Given the description of an element on the screen output the (x, y) to click on. 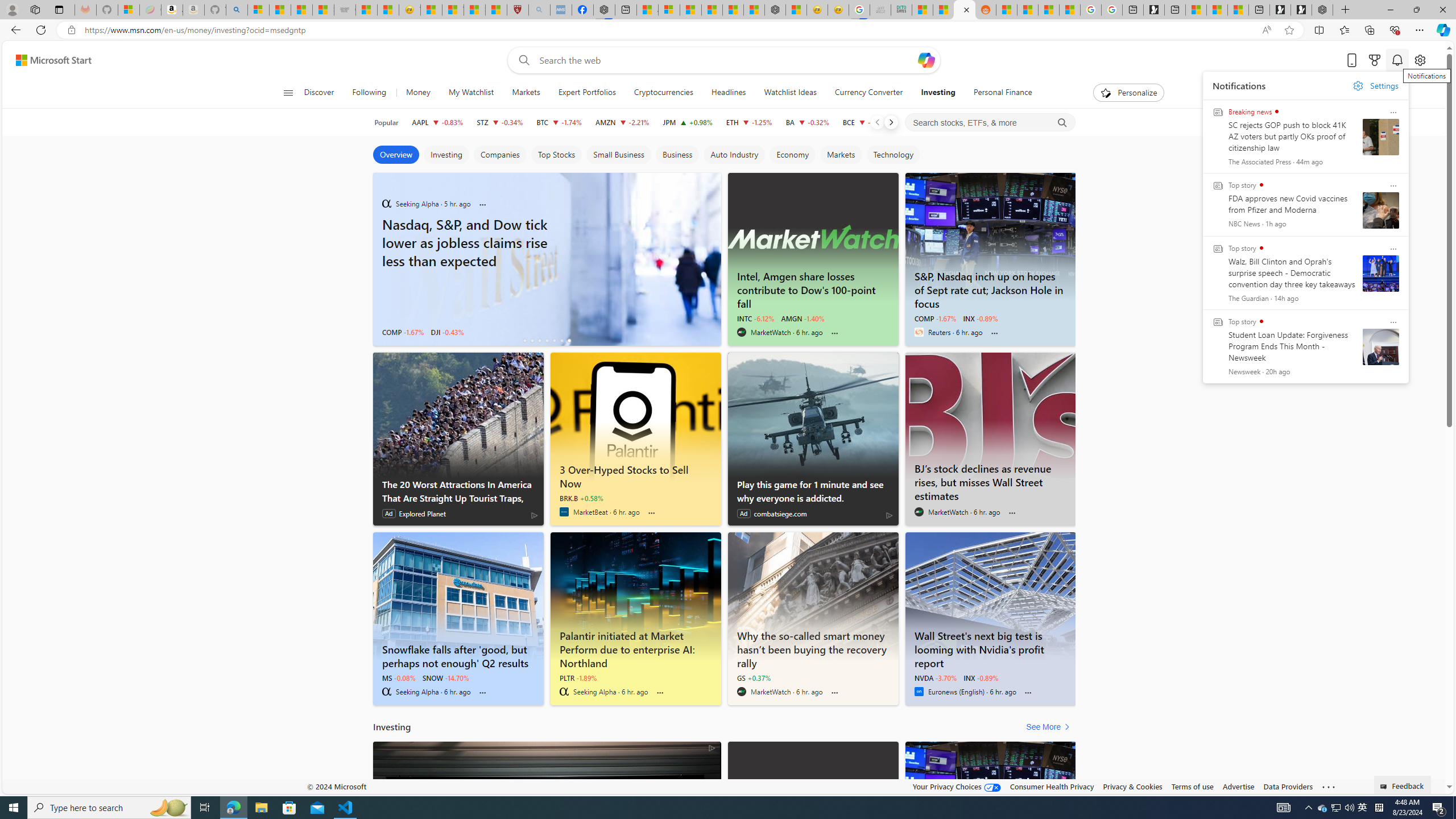
MarketBeat (564, 511)
BRK.B +0.58% (580, 497)
Navy Quest (879, 9)
Skip to content (49, 59)
Science - MSN (474, 9)
Nordace - #1 Japanese Best-Seller - Siena Smart Backpack (775, 9)
Search stocks, ETFs, & more (989, 122)
MS -0.08% (398, 677)
My Watchlist (470, 92)
GS +0.37% (753, 677)
